Given the description of an element on the screen output the (x, y) to click on. 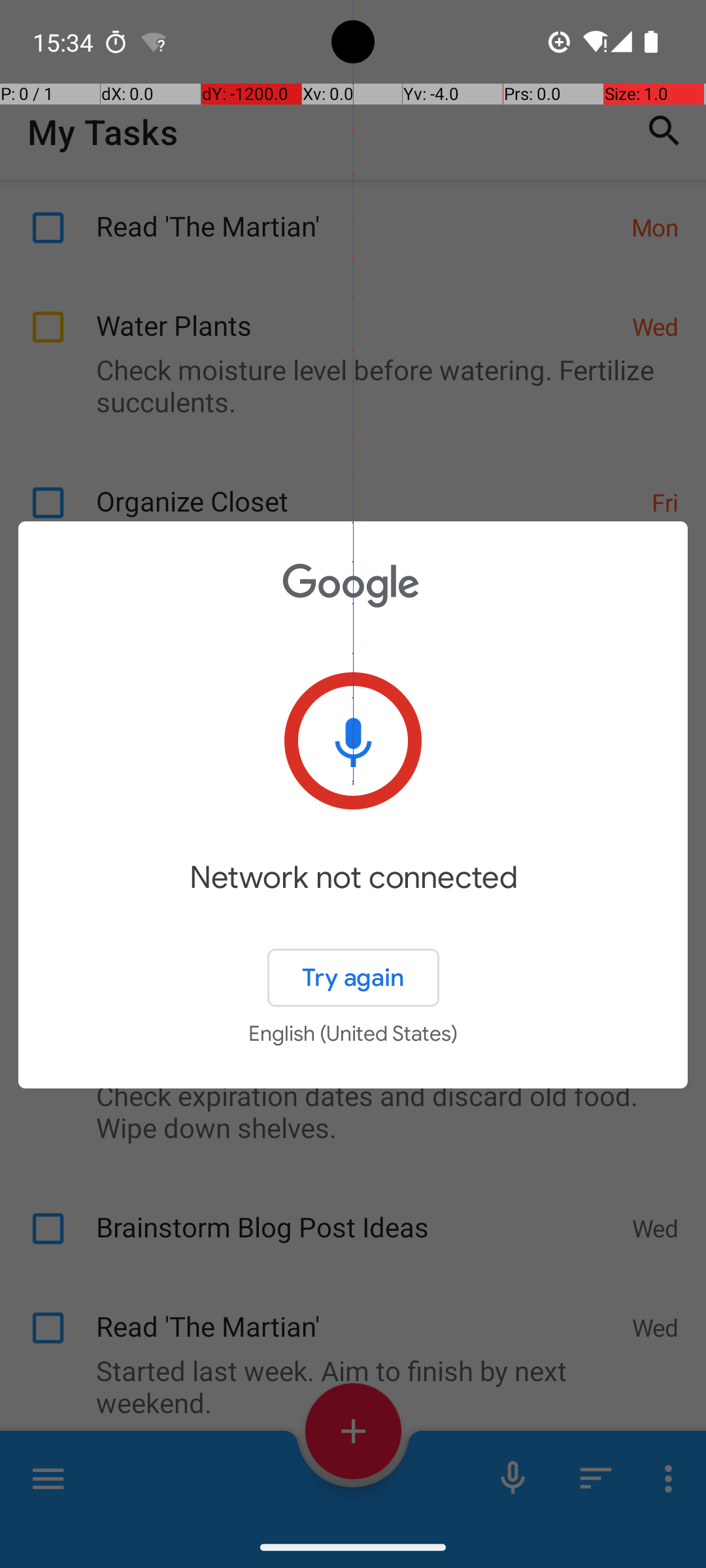
Network not connected Element type: android.widget.TextView (352, 895)
